Given the description of an element on the screen output the (x, y) to click on. 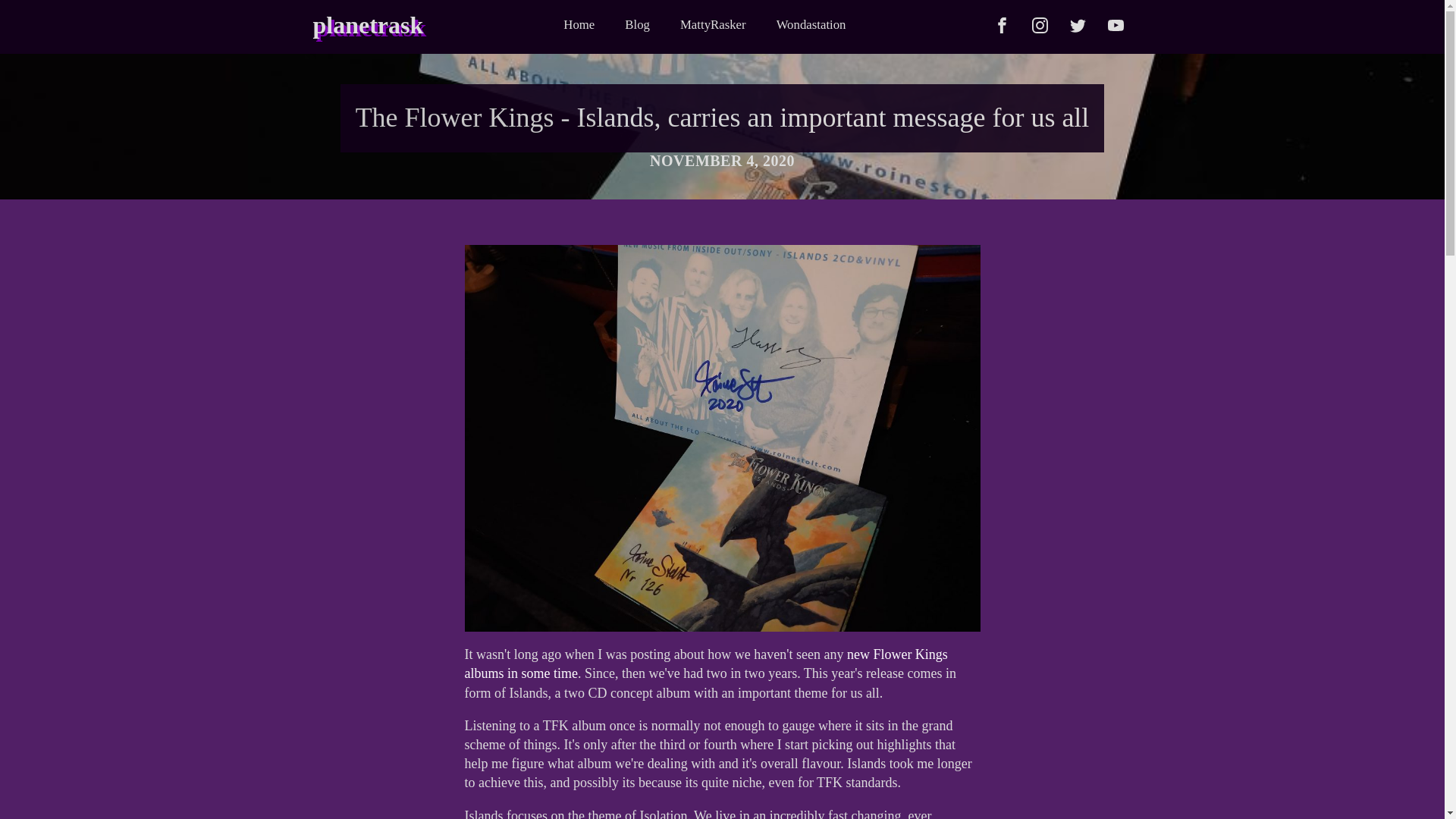
new Flower Kings albums in some time (705, 663)
Home (579, 25)
Wondastation (811, 25)
planetrask (368, 25)
Blog (637, 25)
MattyRasker (713, 25)
